Given the description of an element on the screen output the (x, y) to click on. 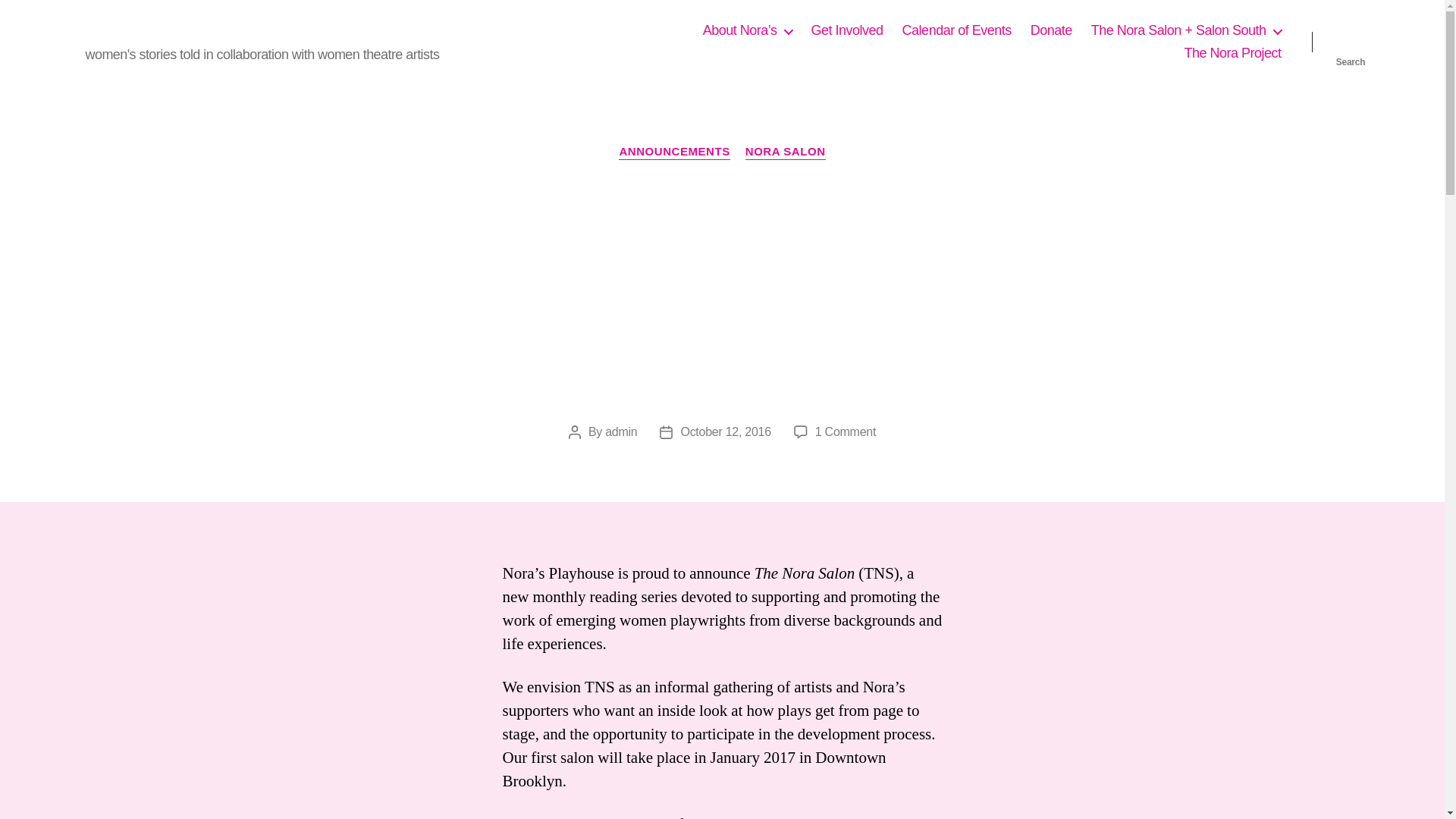
Nora's Playhouse (154, 30)
Donate (1050, 30)
Calendar of Events (956, 30)
Search (1350, 41)
The Nora Project (1232, 53)
Get Involved (846, 30)
